Given the description of an element on the screen output the (x, y) to click on. 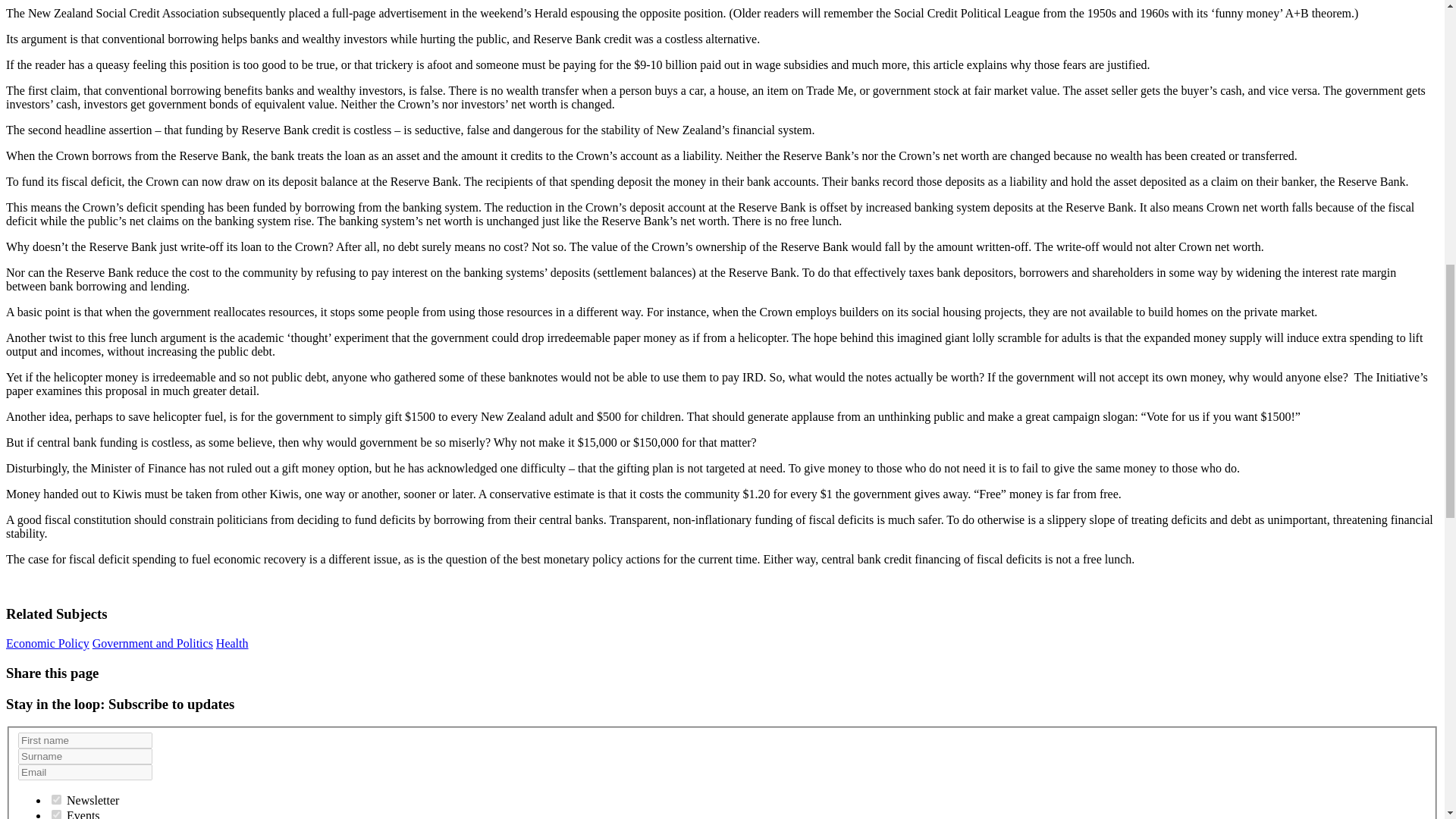
Economic Policy (46, 643)
Health (231, 643)
Government and Politics (152, 643)
